Given the description of an element on the screen output the (x, y) to click on. 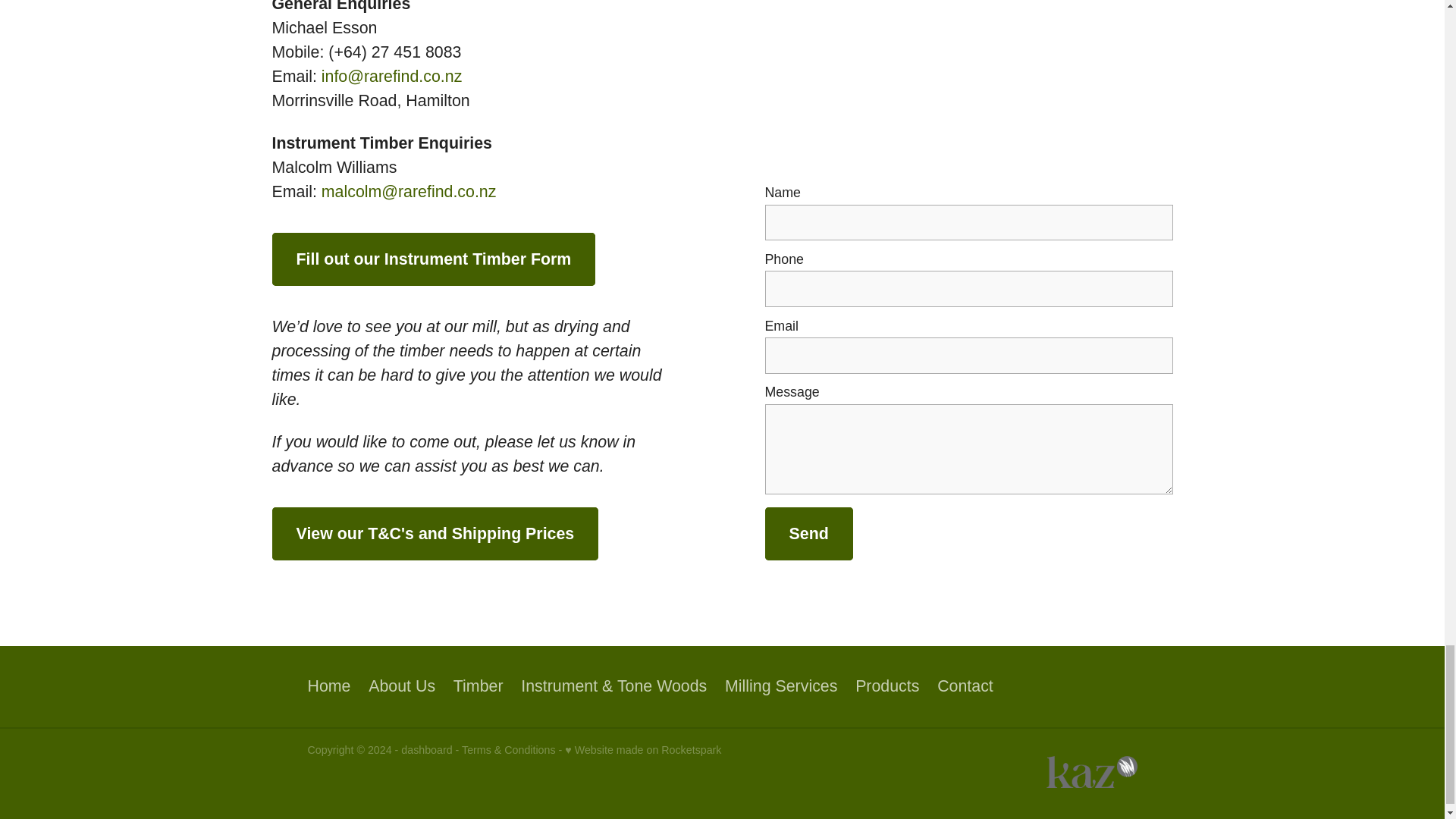
dashboard (426, 749)
Send (807, 533)
Products (886, 686)
Fill out our Instrument Timber Form (432, 258)
About Us (401, 686)
Contact (964, 686)
Milling Services (780, 686)
